Given the description of an element on the screen output the (x, y) to click on. 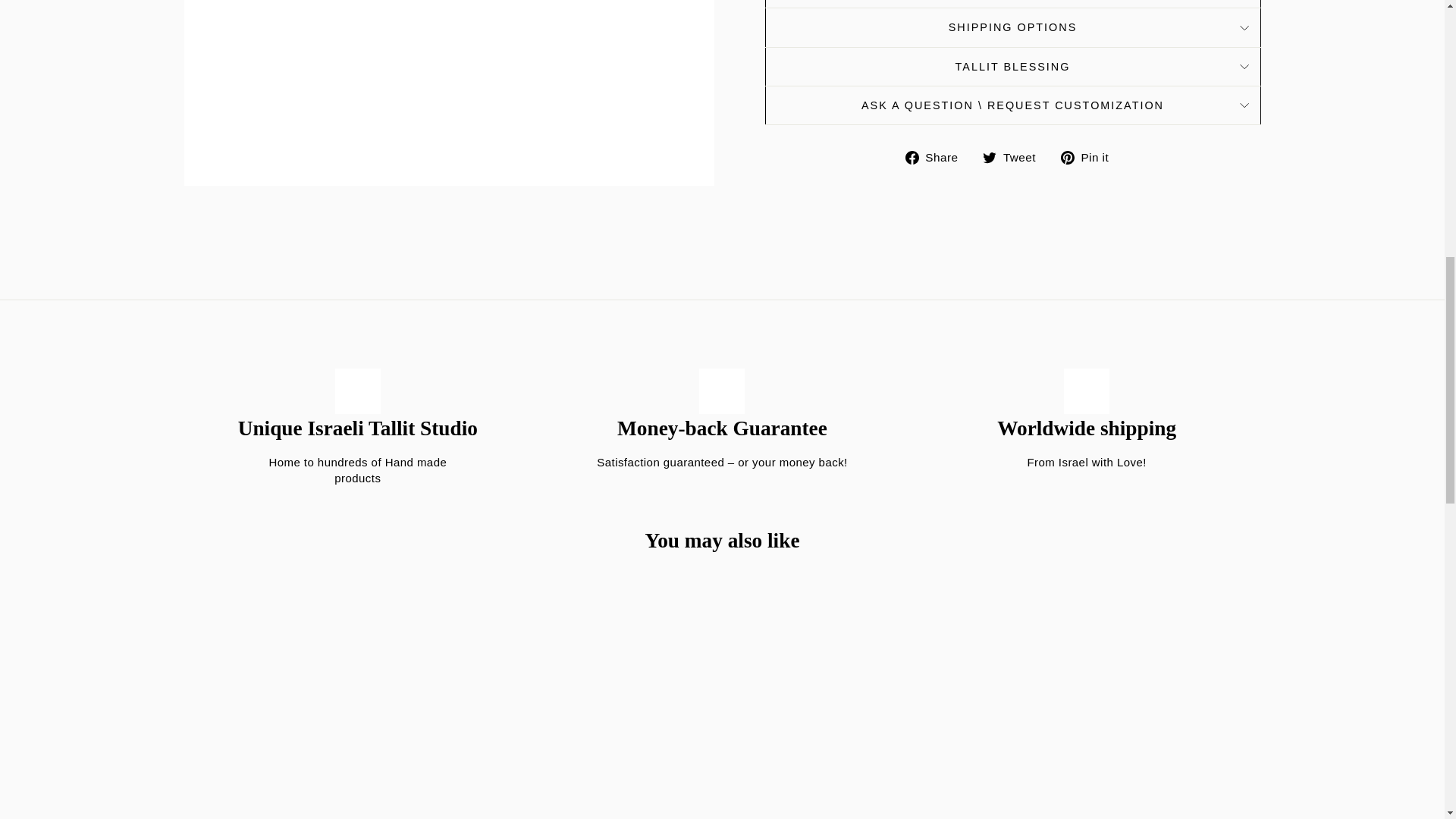
Tweet on Twitter (1014, 157)
Pin on Pinterest (1090, 157)
Share on Facebook (937, 157)
